Given the description of an element on the screen output the (x, y) to click on. 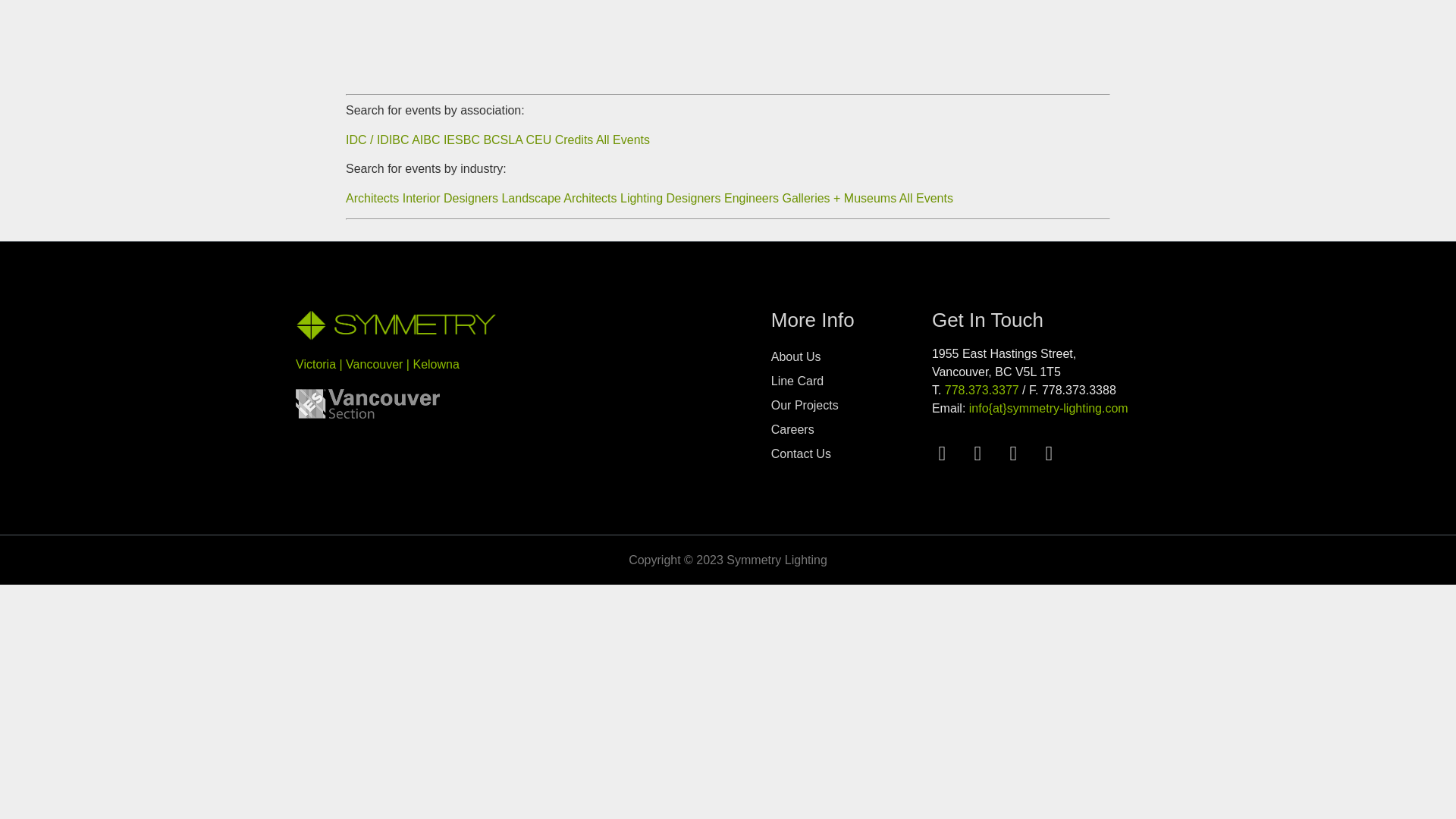
All Events (622, 139)
All Events (926, 197)
Interior Designers (450, 197)
IESBC (463, 139)
Architects (372, 197)
AIBC (425, 139)
About Us (851, 356)
Landscape Architects (557, 197)
Lighting Designers (670, 197)
BCSLA (504, 139)
Engineers (750, 197)
CEU Credits (560, 139)
Line Card (851, 381)
